Given the description of an element on the screen output the (x, y) to click on. 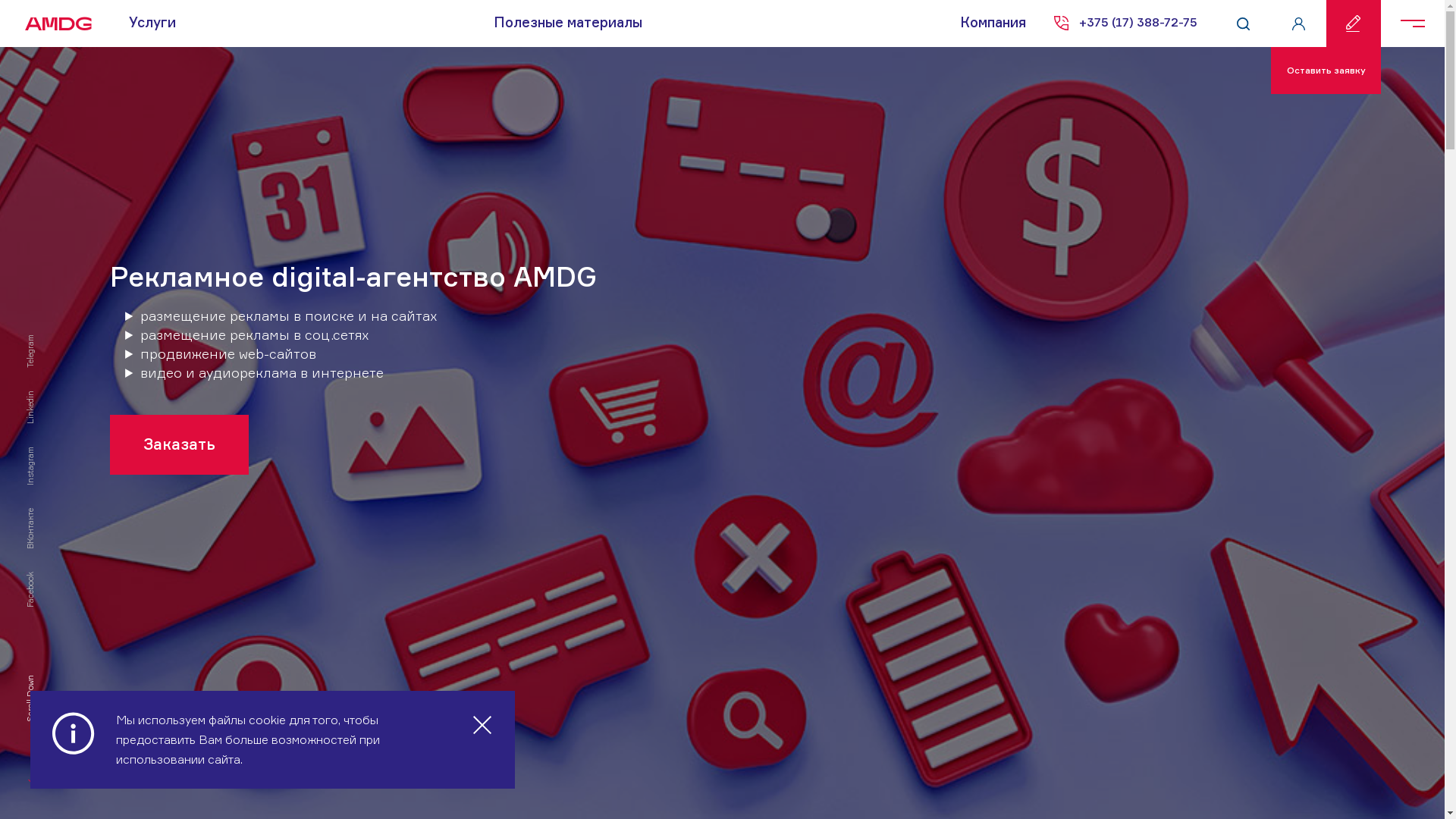
Facebook Element type: text (42, 576)
Instagram Element type: text (44, 451)
AMDG Element type: text (53, 23)
Telegram Element type: text (41, 339)
Linkedin Element type: text (41, 395)
